Given the description of an element on the screen output the (x, y) to click on. 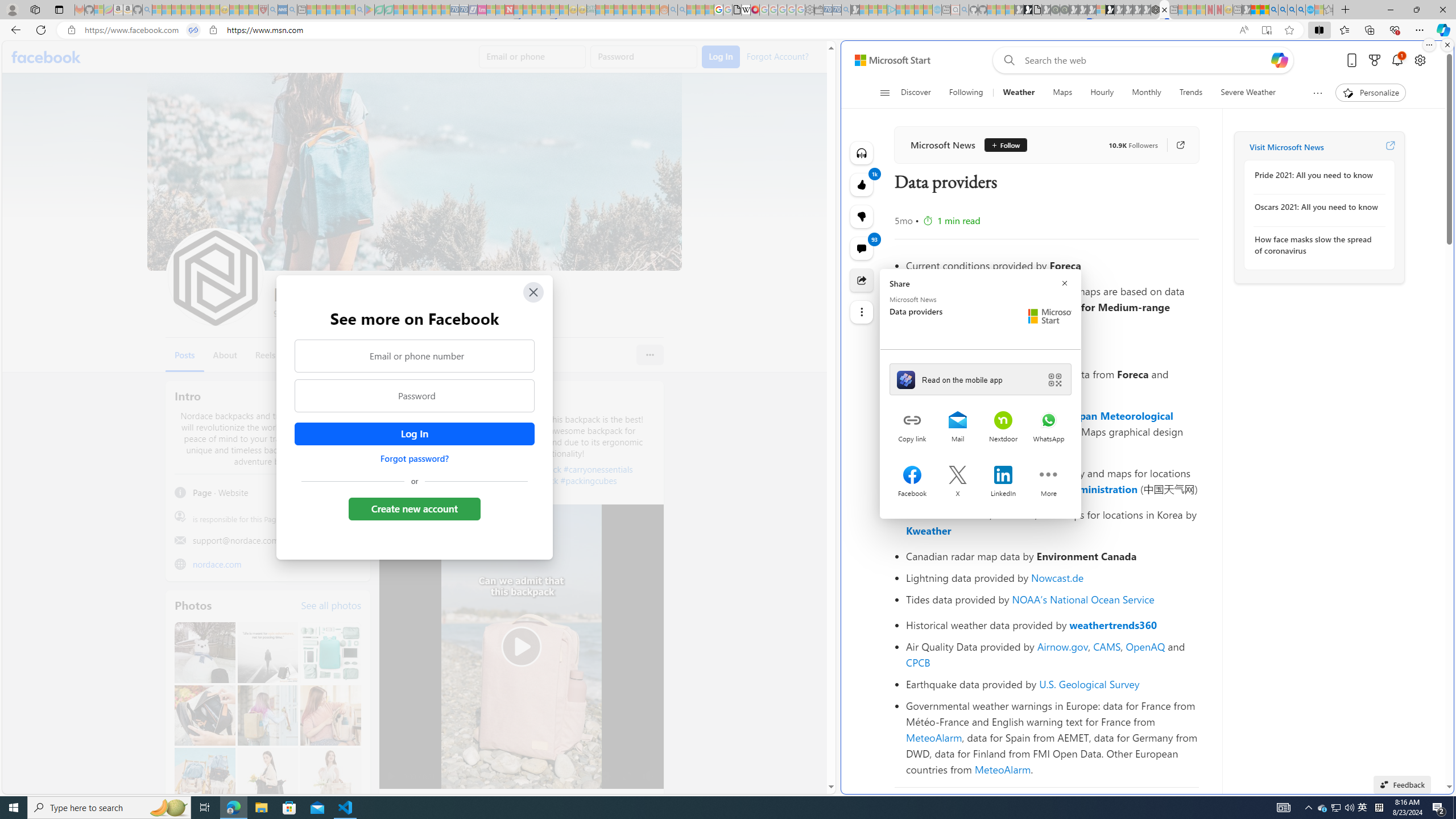
Favorites - Sleeping (1328, 9)
Play Zoo Boom in your browser | Games from Microsoft Start (1027, 9)
Nordace - Cooler Bags (1154, 9)
MeteoAlarm (1002, 769)
Facebook (46, 56)
Canadian radar map data by Environment Canada (1051, 555)
Copy link (911, 421)
